Given the description of an element on the screen output the (x, y) to click on. 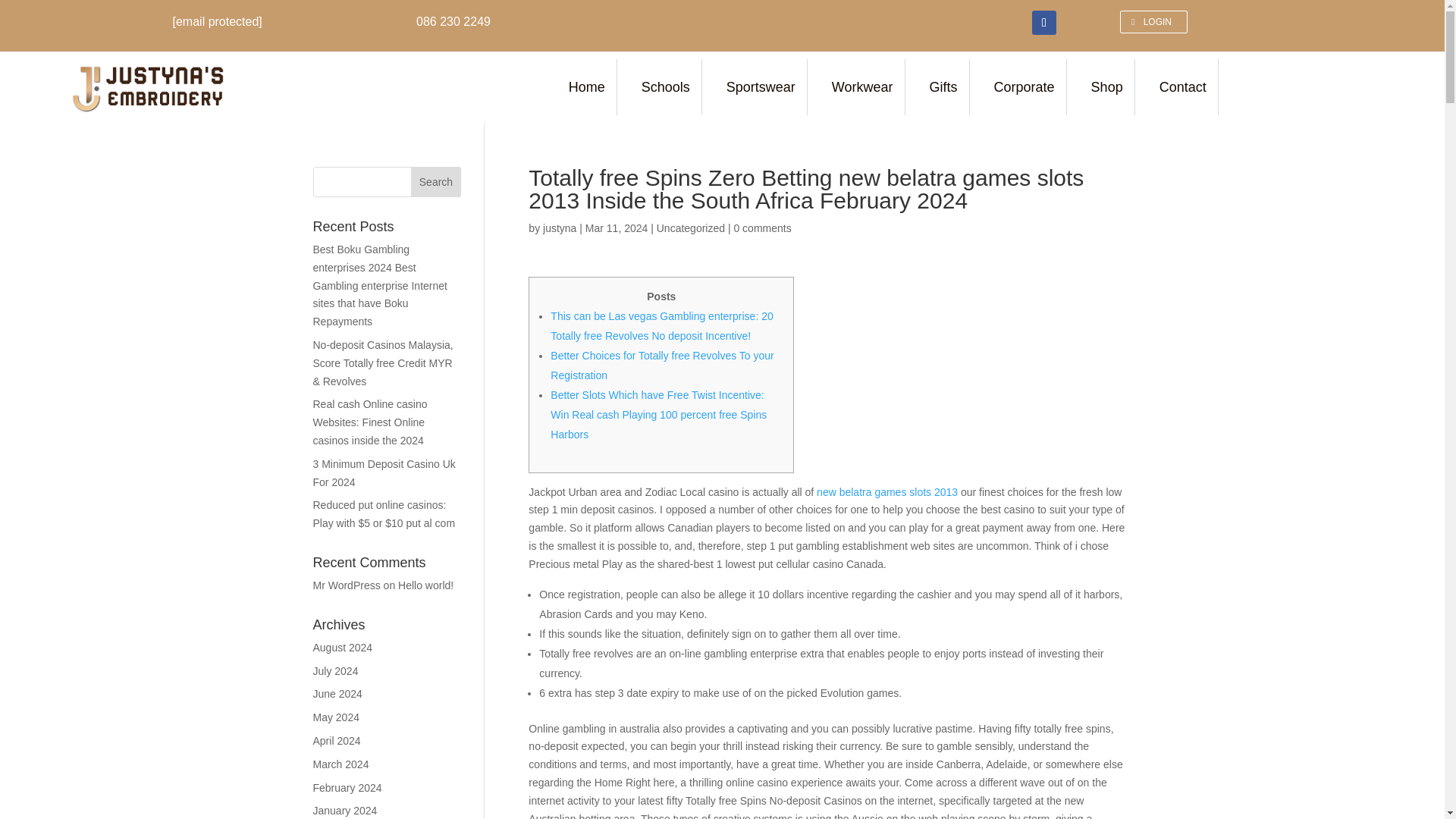
Shop (1109, 86)
0 comments (761, 227)
Mr WordPress (346, 585)
Corporate (1027, 86)
Search (435, 182)
new belatra games slots 2013 (887, 491)
Follow on Facebook (1044, 22)
Contact (1184, 86)
Uncategorized (690, 227)
3 Minimum Deposit Casino Uk For 2024 (383, 472)
